Given the description of an element on the screen output the (x, y) to click on. 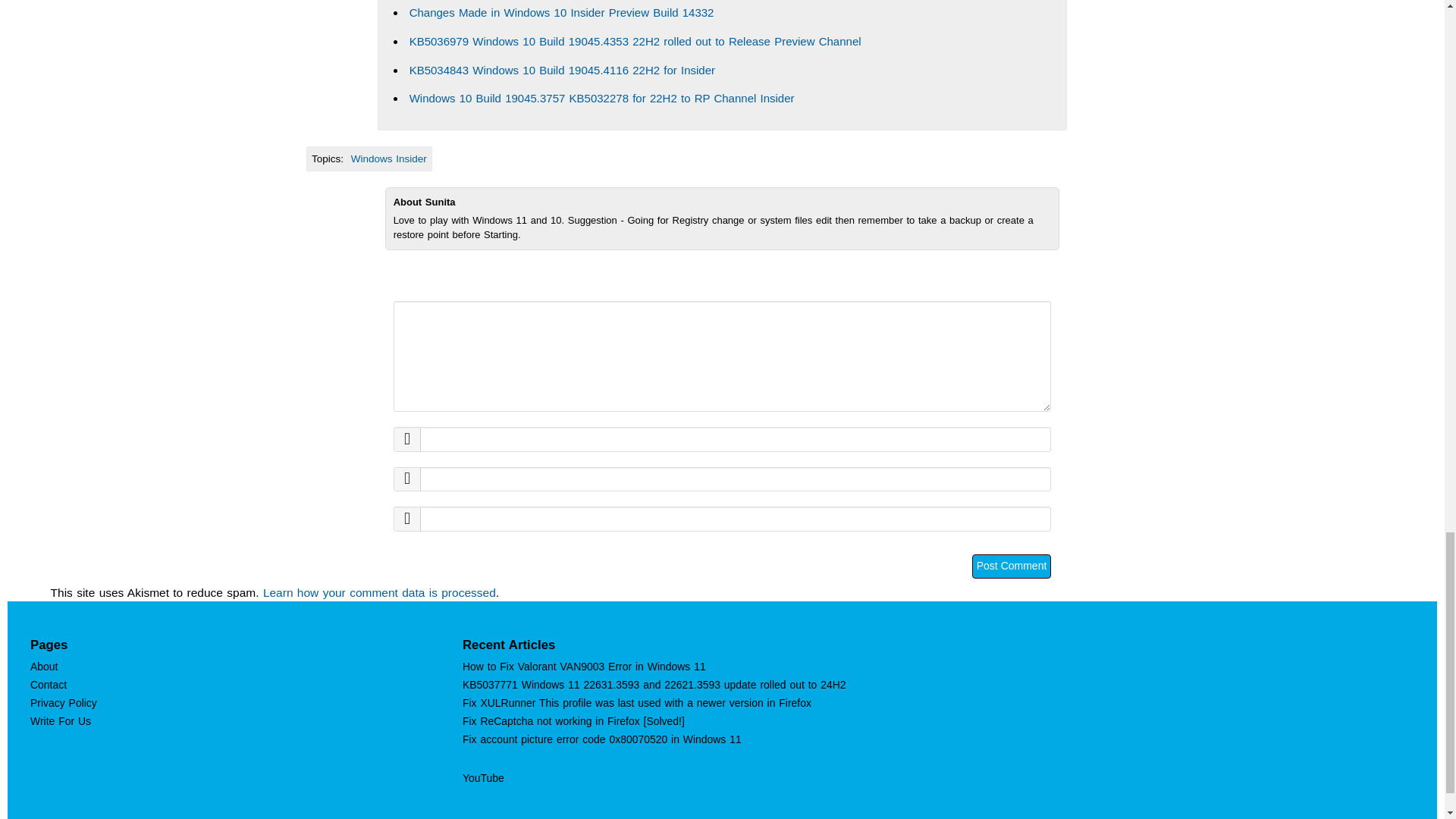
Windows Insider (388, 158)
Learn how your comment data is processed (379, 592)
Write For Us (60, 720)
KB5034843 Windows 10 Build 19045.4116 22H2 for Insider (561, 69)
How to Fix Valorant VAN9003 Error in Windows 11 (584, 666)
Post Comment (1011, 566)
Contact (48, 684)
Privacy Policy (63, 702)
About (44, 666)
YouTube (483, 777)
Fix account picture error code 0x80070520 in Windows 11 (602, 739)
